Given the description of an element on the screen output the (x, y) to click on. 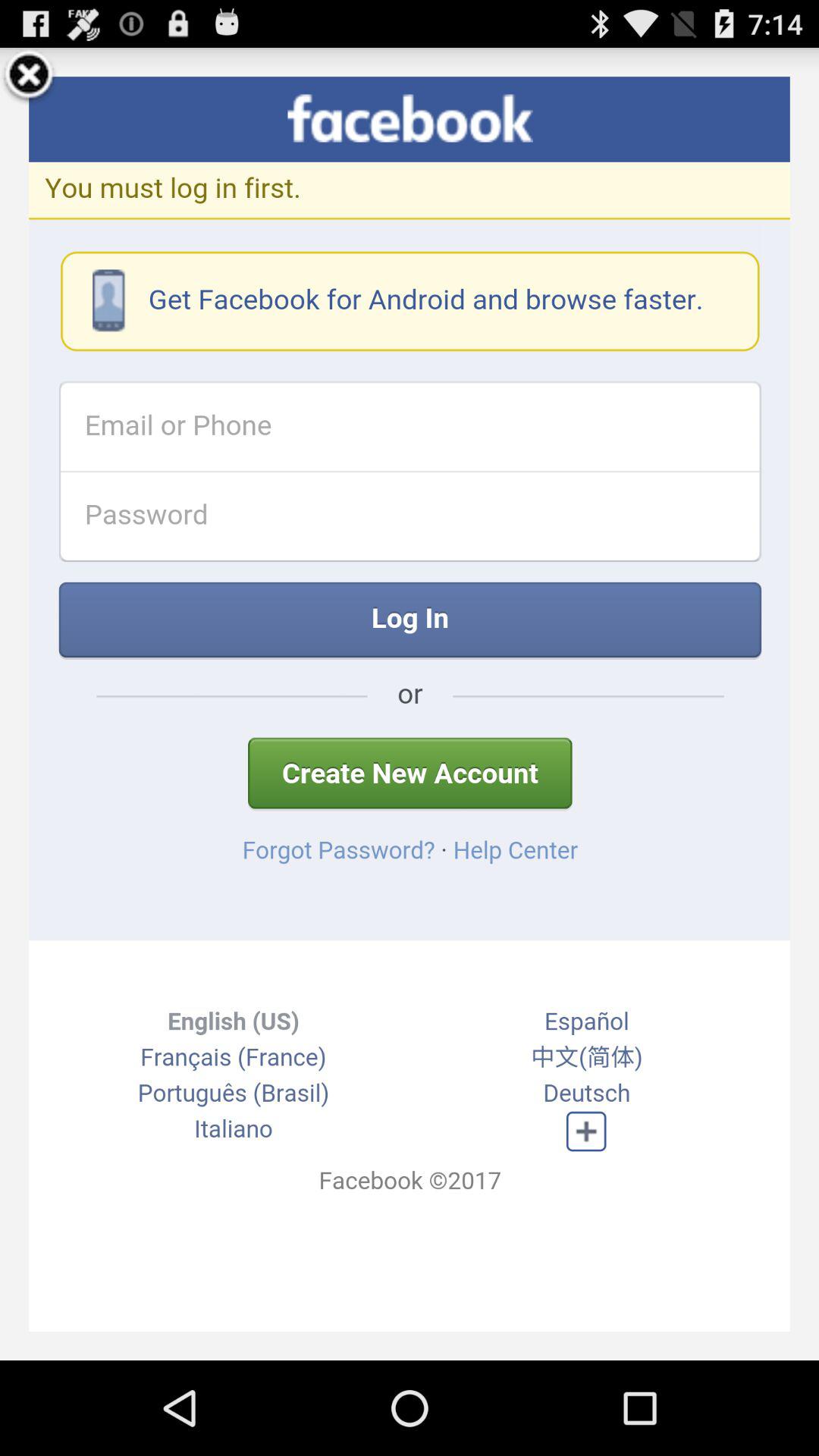
close page (29, 76)
